Given the description of an element on the screen output the (x, y) to click on. 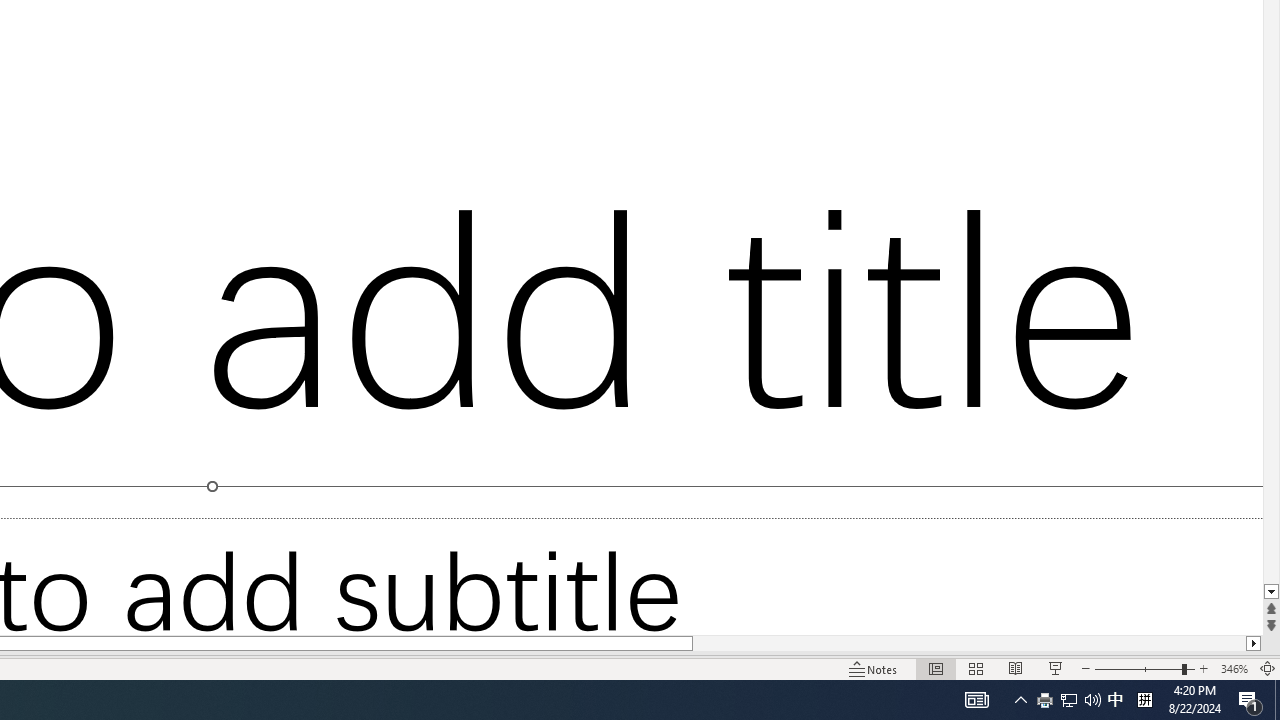
Zoom 346% (1234, 668)
